Given the description of an element on the screen output the (x, y) to click on. 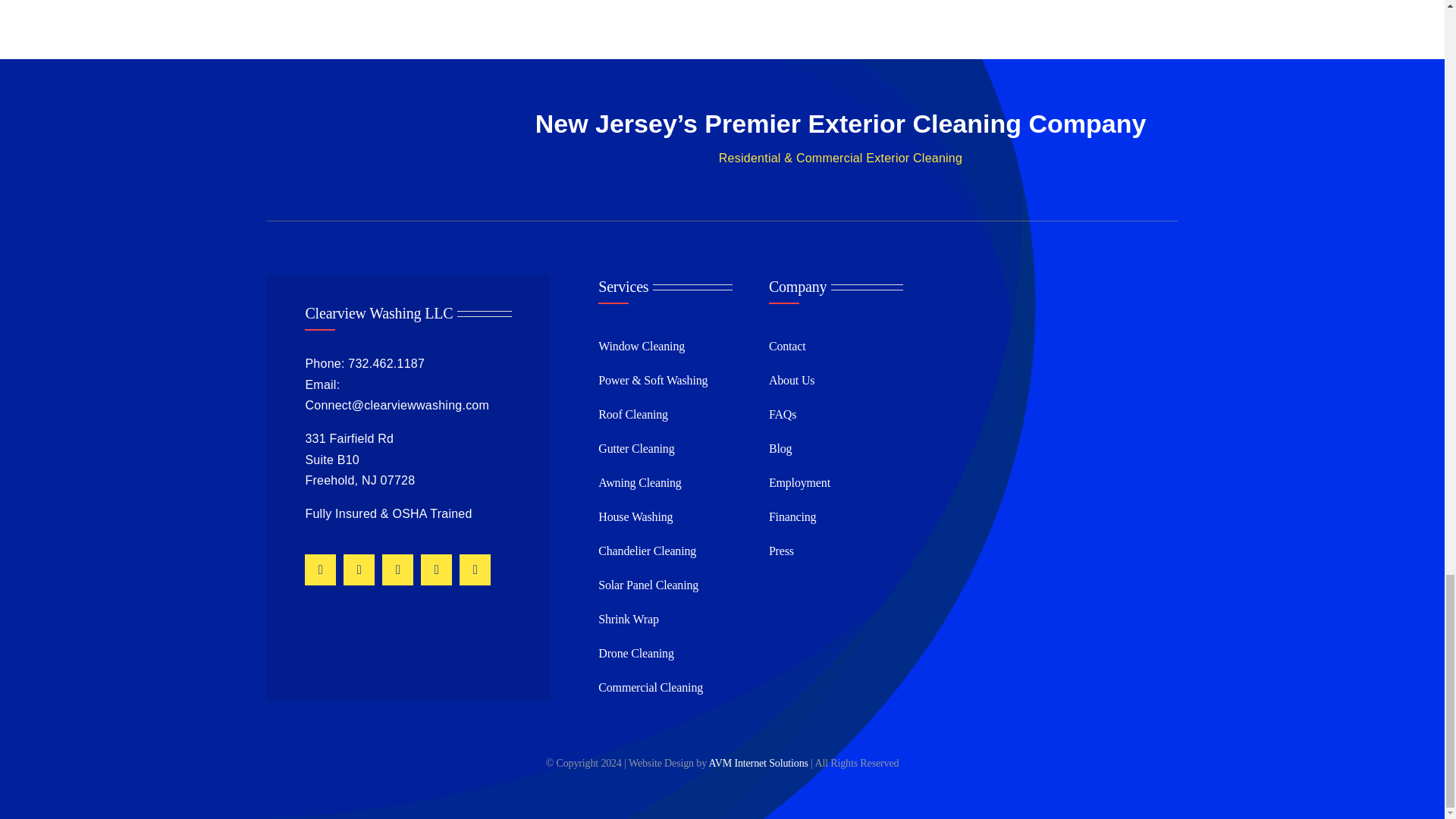
Instagram (320, 569)
footer-logo (366, 143)
Tiktok (475, 569)
LinkedIn (397, 569)
Facebook (435, 569)
YouTube (358, 569)
